Given the description of an element on the screen output the (x, y) to click on. 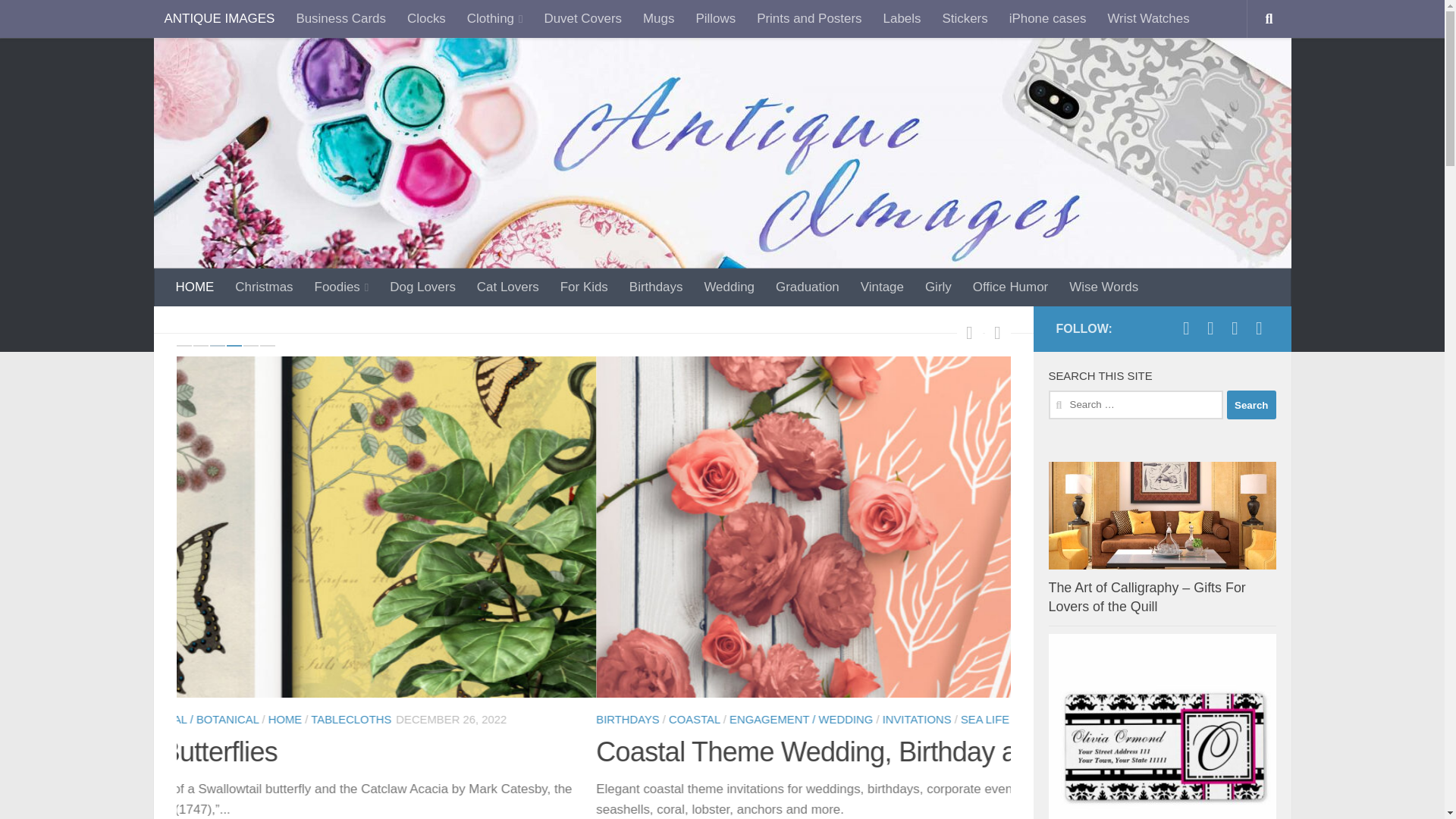
6 Element type: text (266, 345)
HOME Element type: text (195, 287)
Christmas Element type: text (263, 287)
Follow us on Facebook Element type: hover (1185, 328)
ANTIQUE IMAGES Element type: text (219, 18)
Prints and Posters Element type: text (809, 18)
3 Element type: text (216, 345)
Wrist Watches Element type: text (1147, 18)
Wise Words Element type: text (1103, 287)
DAMASK Element type: text (260, 719)
Follow us on Instagram Element type: hover (1234, 328)
Pillows Element type: text (715, 18)
Wedding Element type: text (729, 287)
Foodies Element type: text (341, 287)
1 Element type: text (183, 345)
Labels Element type: text (901, 18)
Office Humor Element type: text (1010, 287)
Moroccan Casbah Blue Damask Bedding & Gifts Element type: text (458, 751)
Previous Element type: text (969, 331)
4 Element type: text (233, 345)
Vintage Element type: text (882, 287)
2 Element type: text (199, 345)
Stickers Element type: text (964, 18)
Business Cards Element type: text (340, 18)
Graduation Element type: text (807, 287)
Follow us on Youtube Element type: hover (1258, 328)
DUVET COVERS Element type: text (514, 719)
Duvet Covers Element type: text (582, 18)
Skip to content Element type: text (66, 21)
Mugs Element type: text (658, 18)
Next Element type: text (997, 331)
Clocks Element type: text (426, 18)
Girly Element type: text (938, 287)
Search Element type: text (1250, 404)
5 Element type: text (249, 345)
Follow us on Twitter Element type: hover (1210, 328)
iPhone cases Element type: text (1047, 18)
Clothing Element type: text (494, 18)
BEDDING Element type: text (201, 719)
For Kids Element type: text (583, 287)
Dog Lovers Element type: text (422, 287)
Birthdays Element type: text (655, 287)
Cat Lovers Element type: text (507, 287)
DESIGNS BY ANTIQUE IMAGES Element type: text (377, 719)
